Given the description of an element on the screen output the (x, y) to click on. 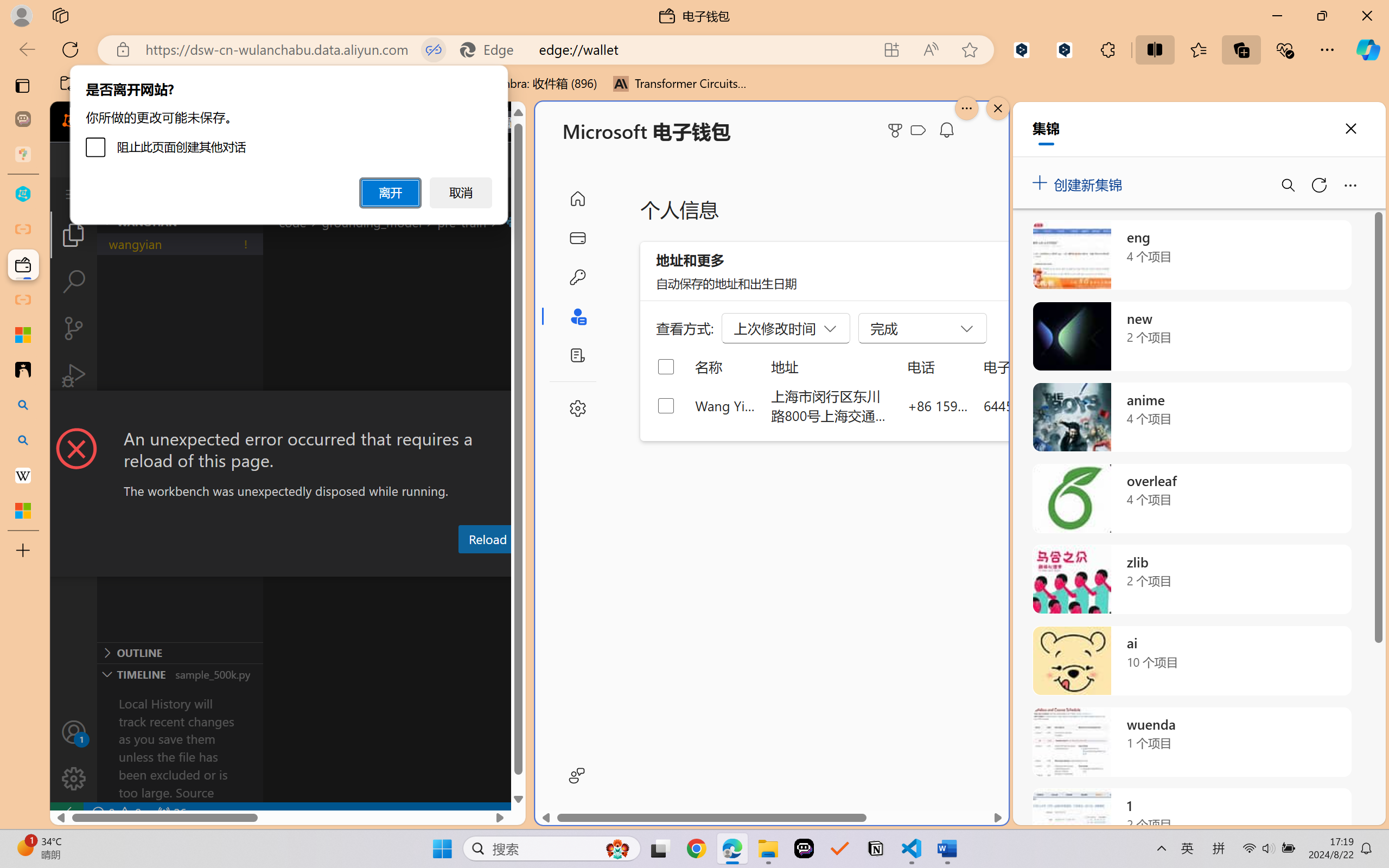
Class: ___1lmltc5 f1agt3bx f12qytpq (917, 130)
Earth - Wikipedia (22, 475)
Timeline Section (179, 673)
Debug Console (Ctrl+Shift+Y) (463, 565)
Close Dialog (520, 410)
